Given the description of an element on the screen output the (x, y) to click on. 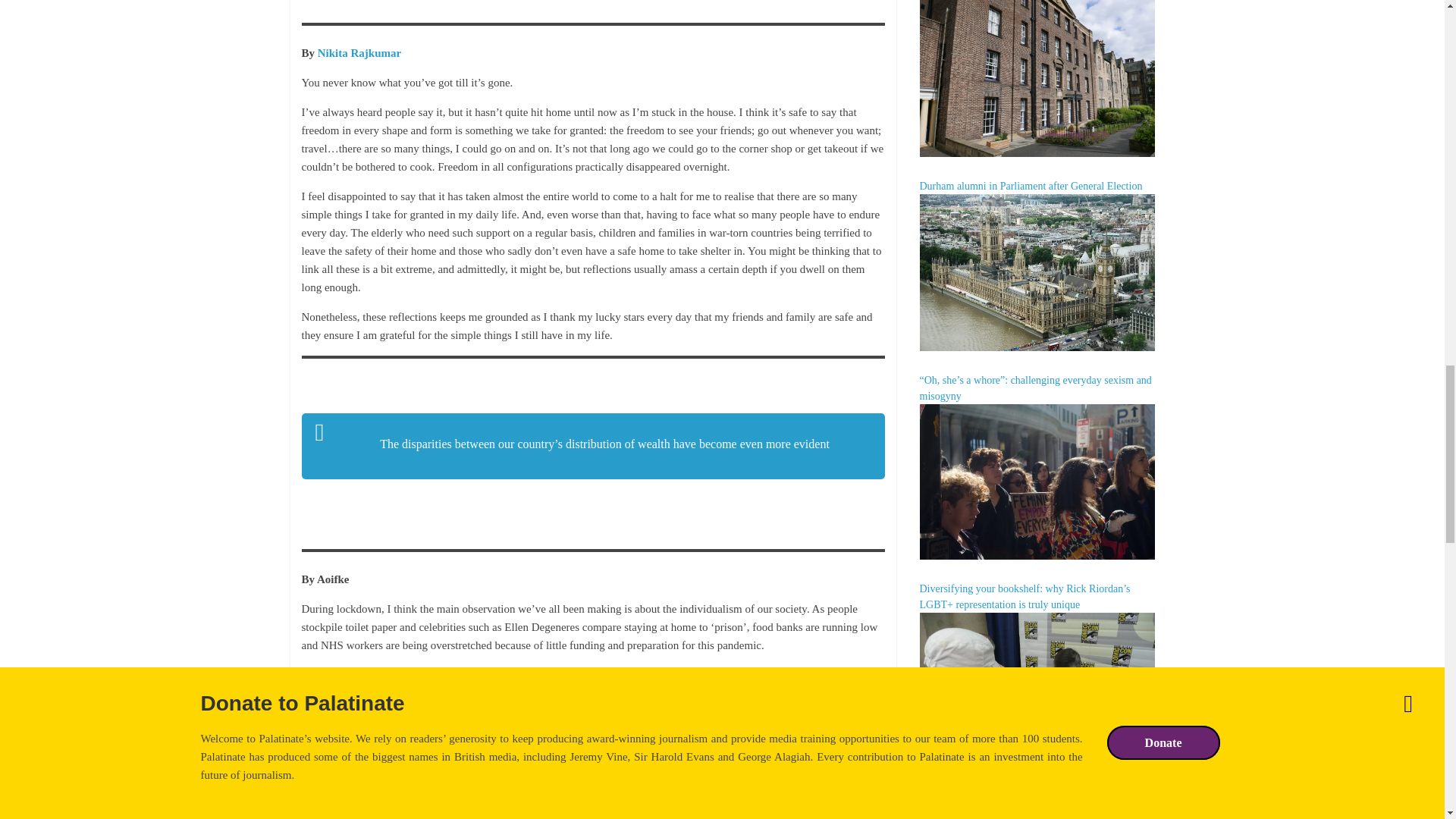
Posts tagged with Nikita Rajkumar (359, 52)
